Given the description of an element on the screen output the (x, y) to click on. 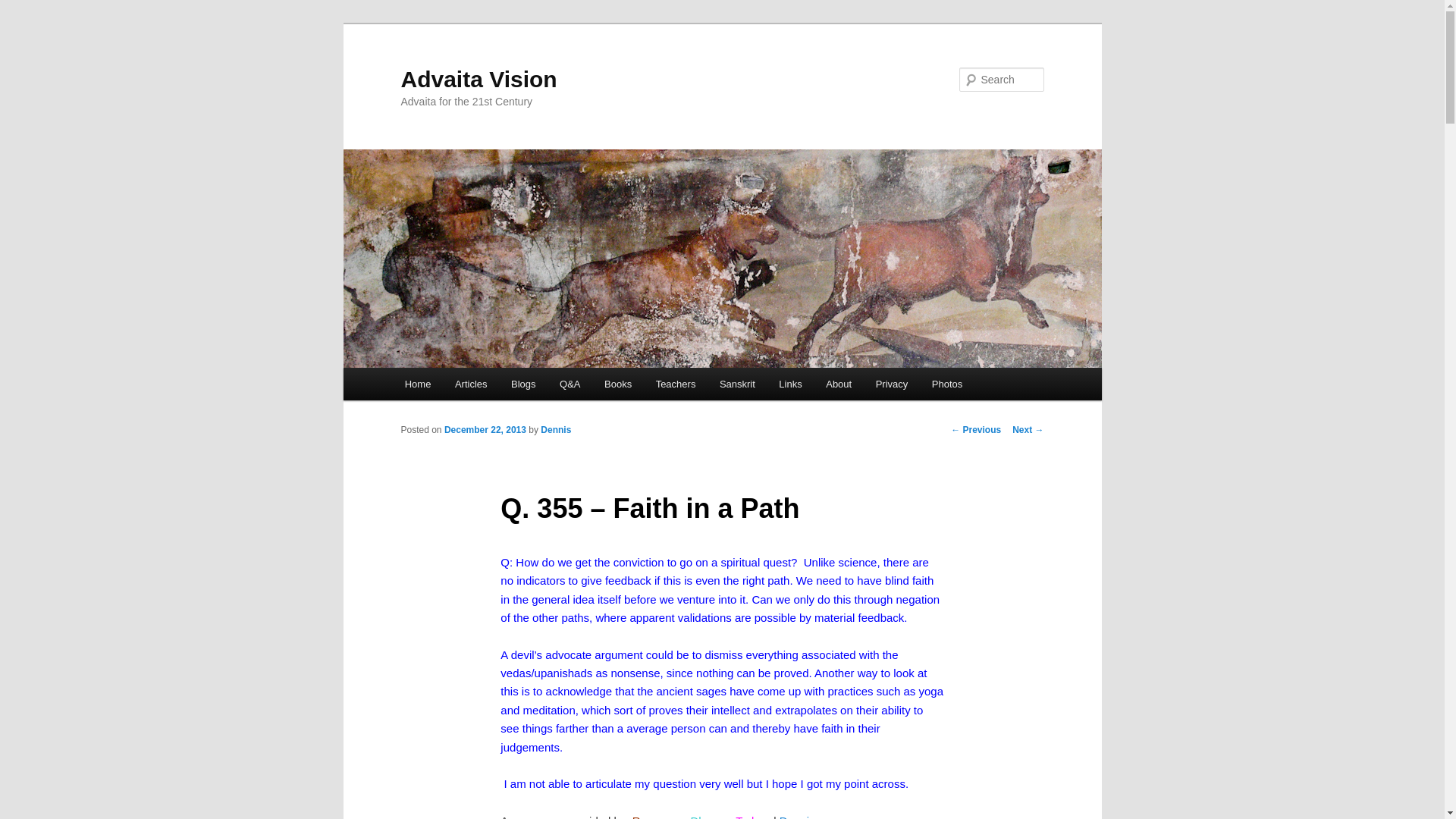
Search (24, 8)
Blogs (523, 383)
Articles (470, 383)
Advaita Vision (478, 78)
Sanskrit (737, 383)
15:38 (484, 429)
Home (417, 383)
Privacy (891, 383)
Blogs from regular contributors (523, 383)
Photos (947, 383)
Links (790, 383)
December 22, 2013 (484, 429)
